Given the description of an element on the screen output the (x, y) to click on. 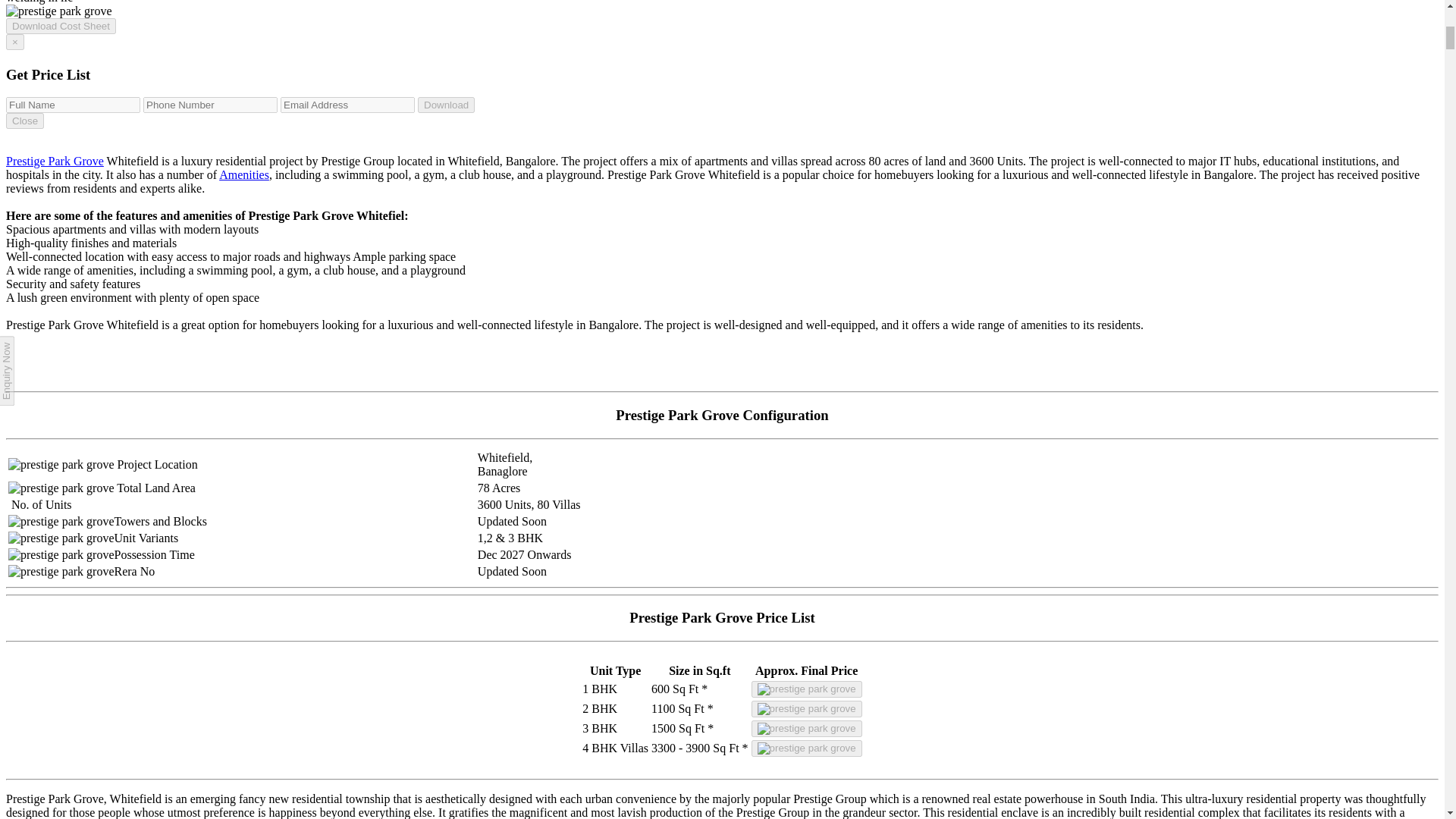
Close (24, 120)
Download (445, 105)
Prestige Park Grove (54, 160)
Download Cost Sheet (60, 26)
Amenities (244, 174)
